Given the description of an element on the screen output the (x, y) to click on. 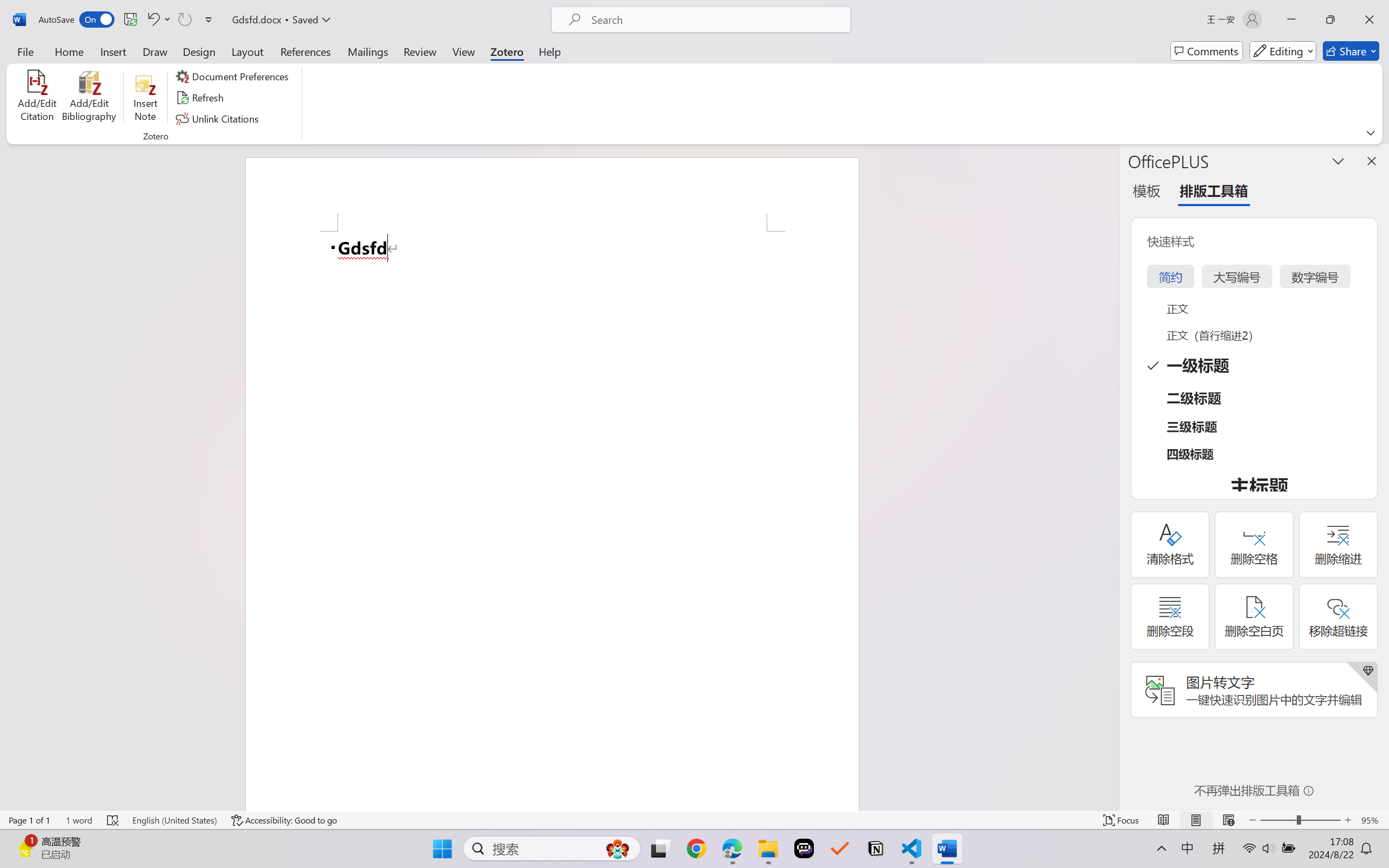
Unlink Citations (218, 118)
Microsoft search (715, 19)
Add/Edit Bibliography (88, 97)
